Given the description of an element on the screen output the (x, y) to click on. 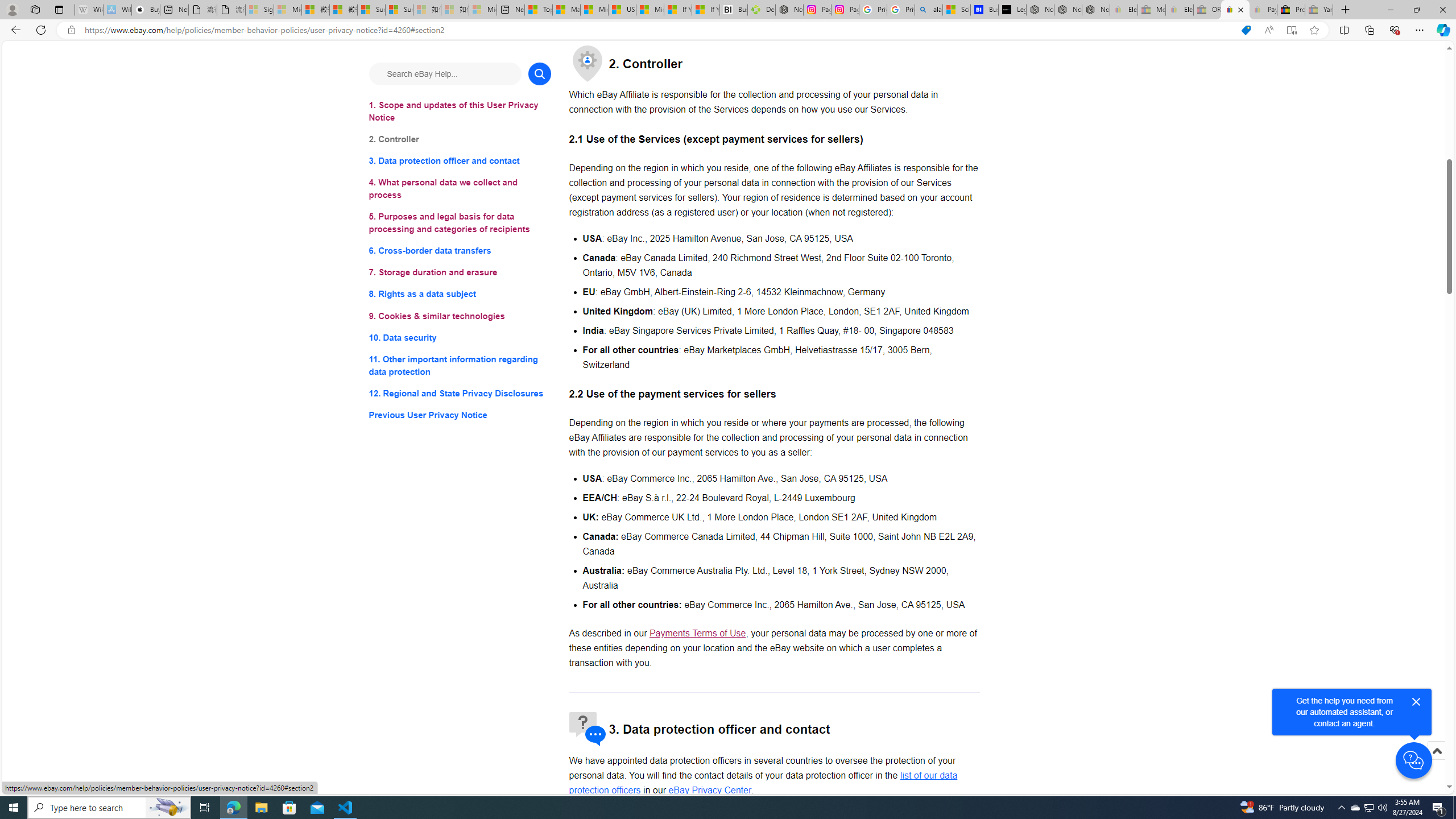
1. Scope and updates of this User Privacy Notice (459, 111)
10. Data security (459, 336)
US Heat Deaths Soared To Record High Last Year (621, 9)
7. Storage duration and erasure (459, 272)
3. Data protection officer and contact (459, 160)
This site has coupons! Shopping in Microsoft Edge (1245, 29)
11. Other important information regarding data protection (459, 365)
